Given the description of an element on the screen output the (x, y) to click on. 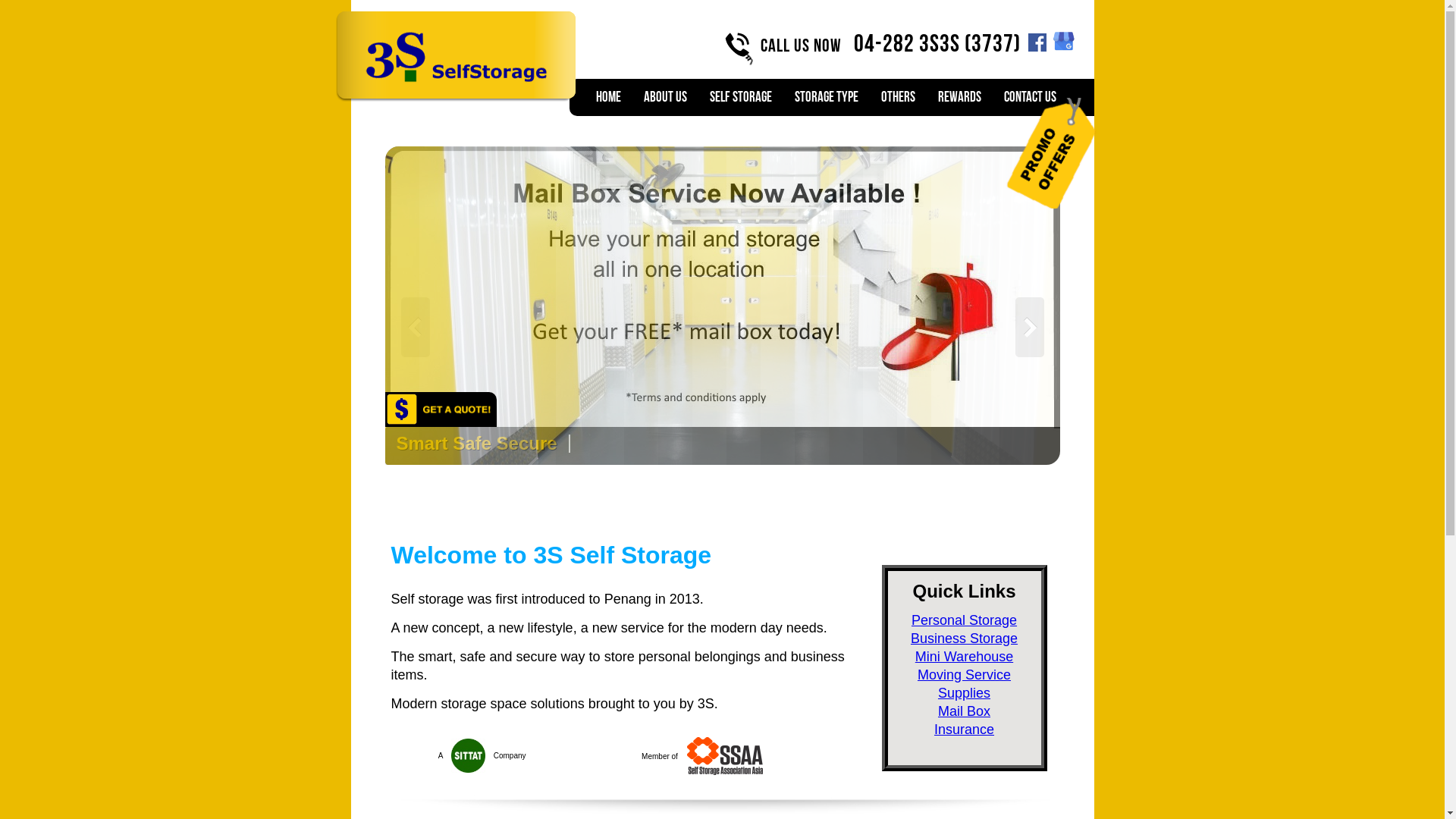
Personal Storage Element type: text (963, 619)
STORAGE TYPE Element type: text (826, 97)
Self Storage Element type: text (740, 97)
Mini Warehouse Element type: text (964, 656)
Mail Box Element type: text (964, 710)
Supplies Element type: text (964, 692)
CONTACT US Element type: text (1030, 97)
Moving Service Element type: text (963, 674)
Insurance Element type: text (964, 729)
ABOUT US Element type: text (664, 97)
Home Element type: text (608, 97)
OTHERS Element type: text (898, 97)
Next Element type: text (415, 327)
Prev Element type: text (1029, 327)
REWARDS Element type: text (958, 97)
Business Storage Element type: text (963, 638)
